Given the description of an element on the screen output the (x, y) to click on. 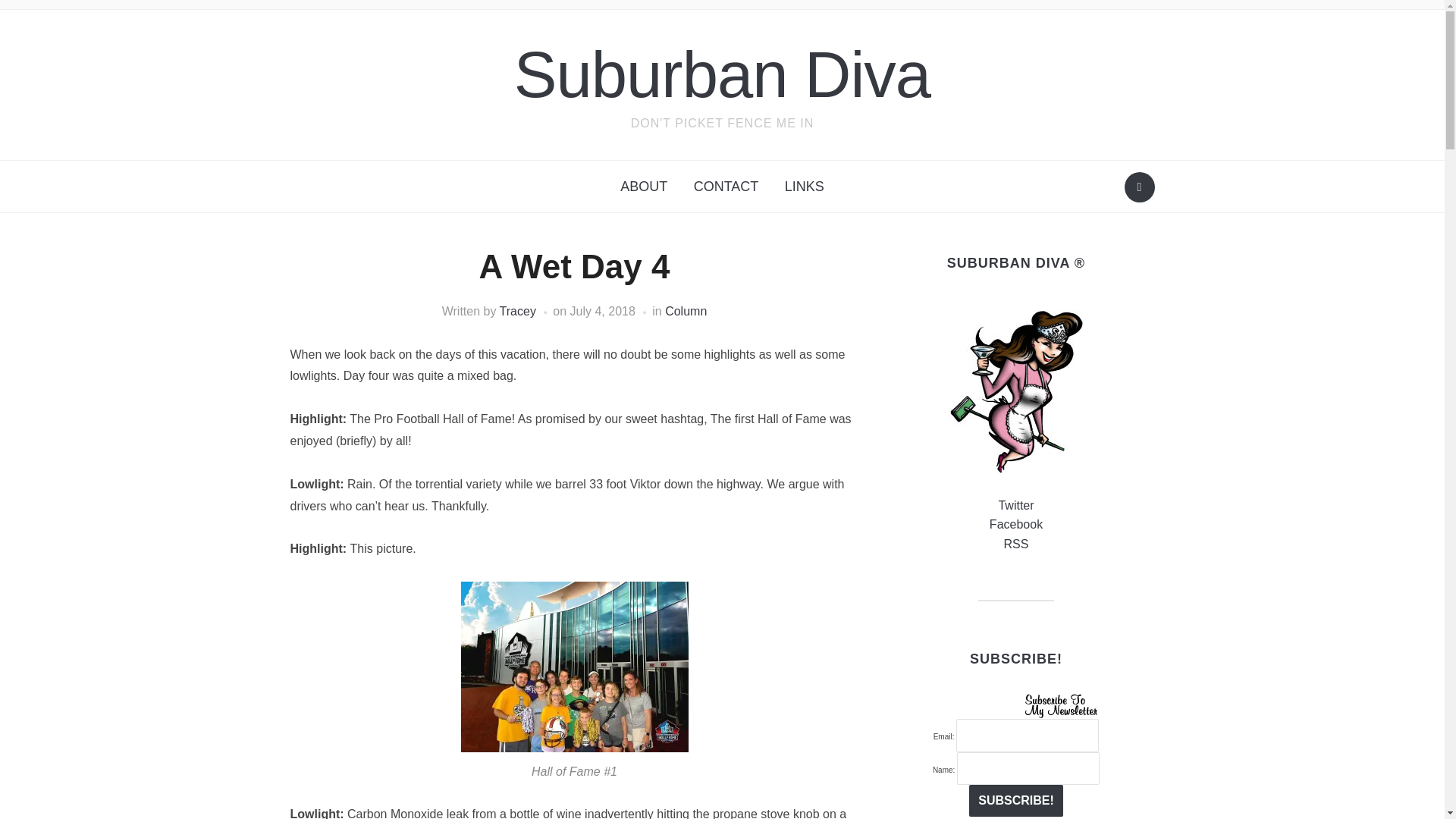
Facebook (1016, 523)
Subscribe! (1015, 800)
RSS (1016, 543)
ABOUT (643, 186)
Tracey (517, 310)
Subscribe! (1015, 800)
CONTACT (726, 186)
LINKS (804, 186)
Don't Picket Fence Me In (721, 74)
Column (685, 310)
Search (1139, 186)
Posts by Tracey (517, 310)
Suburban Diva (721, 74)
Twitter (1015, 504)
